Given the description of an element on the screen output the (x, y) to click on. 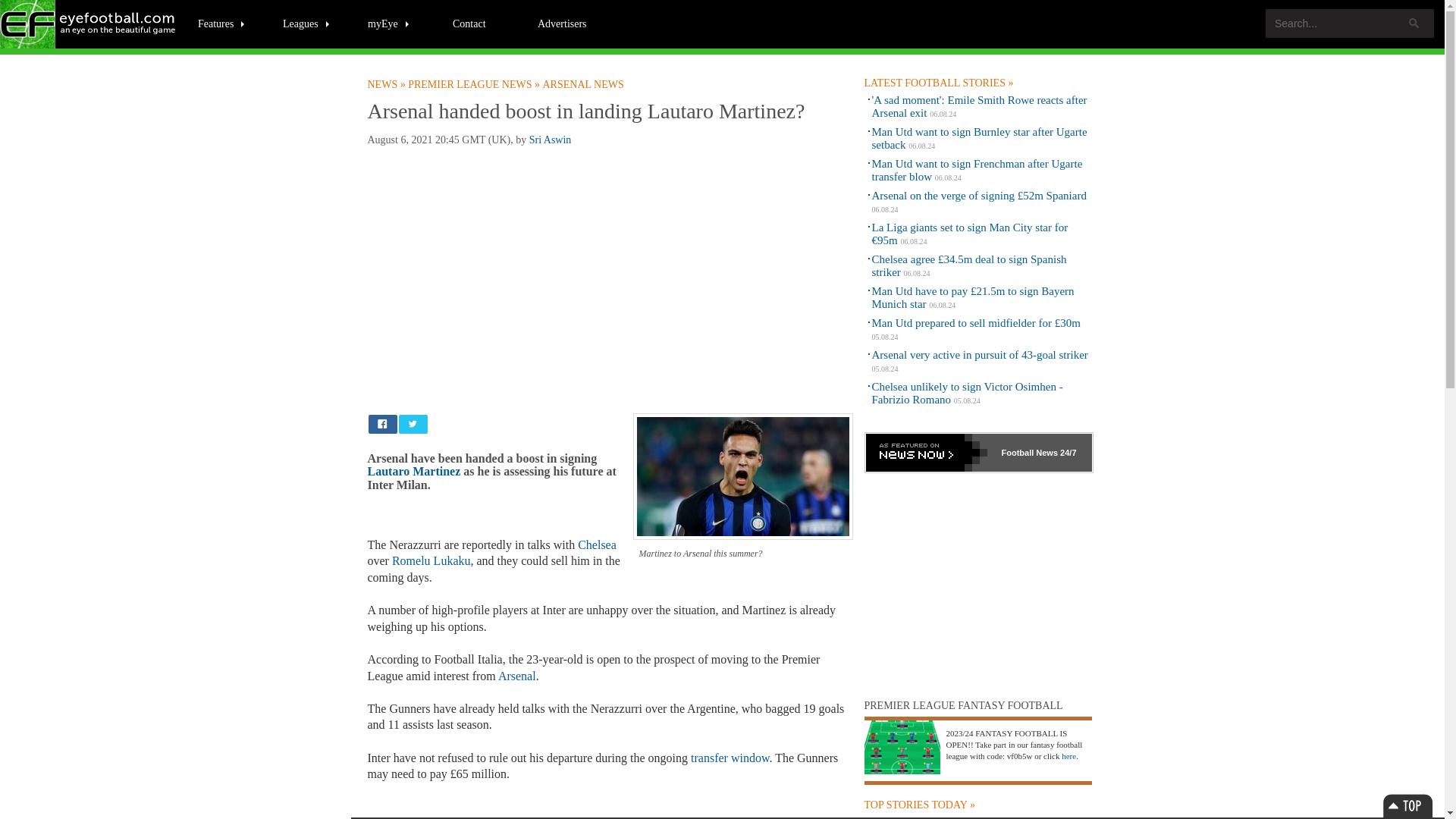
Search (1414, 22)
Features (221, 23)
ARSENAL NEWS (583, 84)
Contact (469, 23)
Football News (88, 24)
Lautaro Martinez (413, 471)
transfer window (729, 757)
Premier League news (474, 84)
Arsenal (516, 675)
Search... (1349, 23)
